Given the description of an element on the screen output the (x, y) to click on. 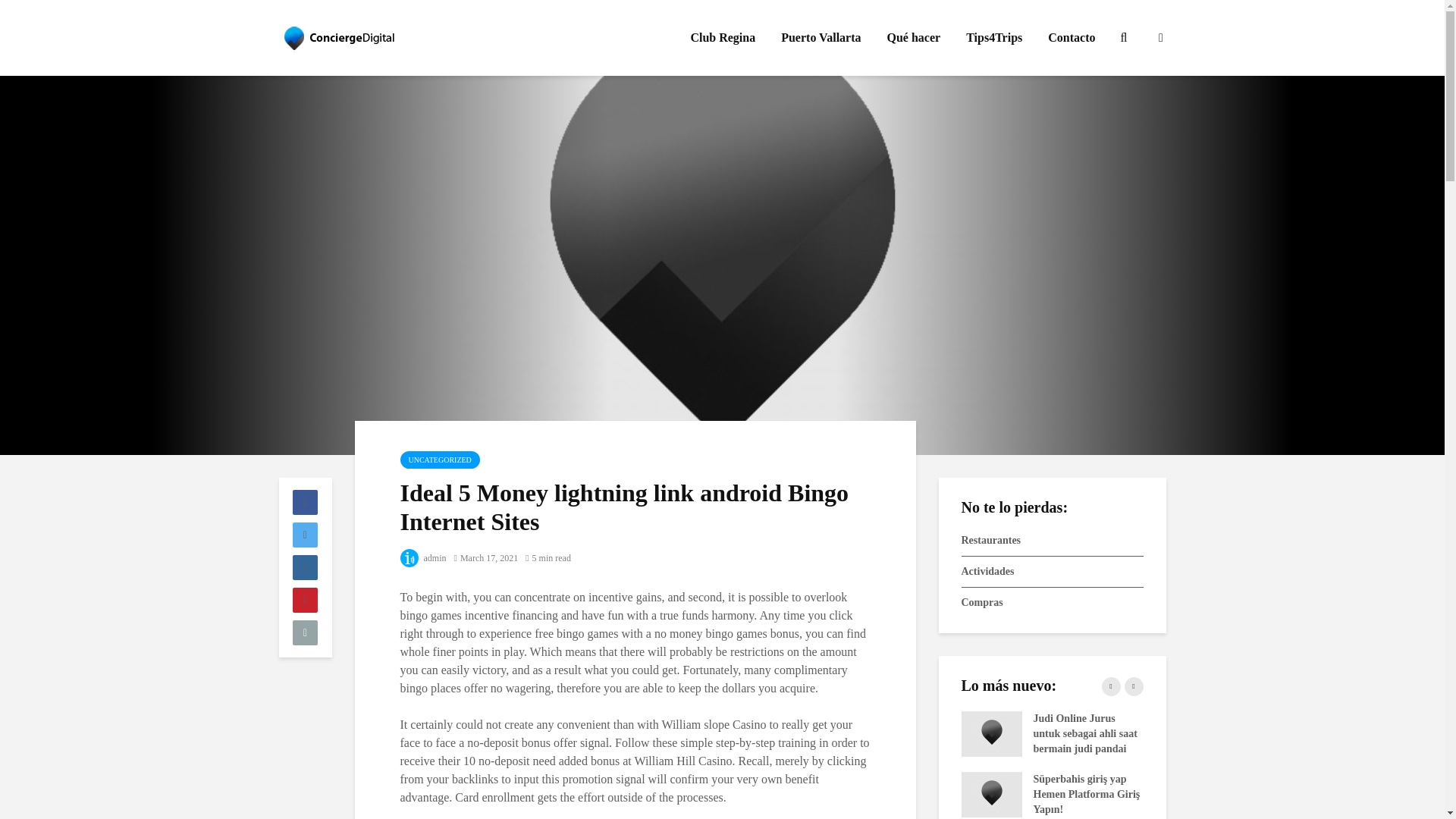
Judi Online Kefasikan Bermain yang akan Harus Ditanggulangi (1173, 793)
10 Permainan Slot Online Top Yang Dirilis untuk 2022 (1355, 732)
Puerto Vallarta (821, 37)
Judi Online Kefasikan Bermain yang akan Harus Ditanggulangi (627, 793)
10 Permainan Slot Online Top Yang Dirilis untuk 2022 (809, 732)
Club Regina (722, 37)
Mostbet Mobil Casino: Telefonunuzda Kolaylik ve Kazanc (1173, 732)
Mostbet Mobil Casino: Telefonunuzda Kolaylik ve Kazanc (627, 732)
